Given the description of an element on the screen output the (x, y) to click on. 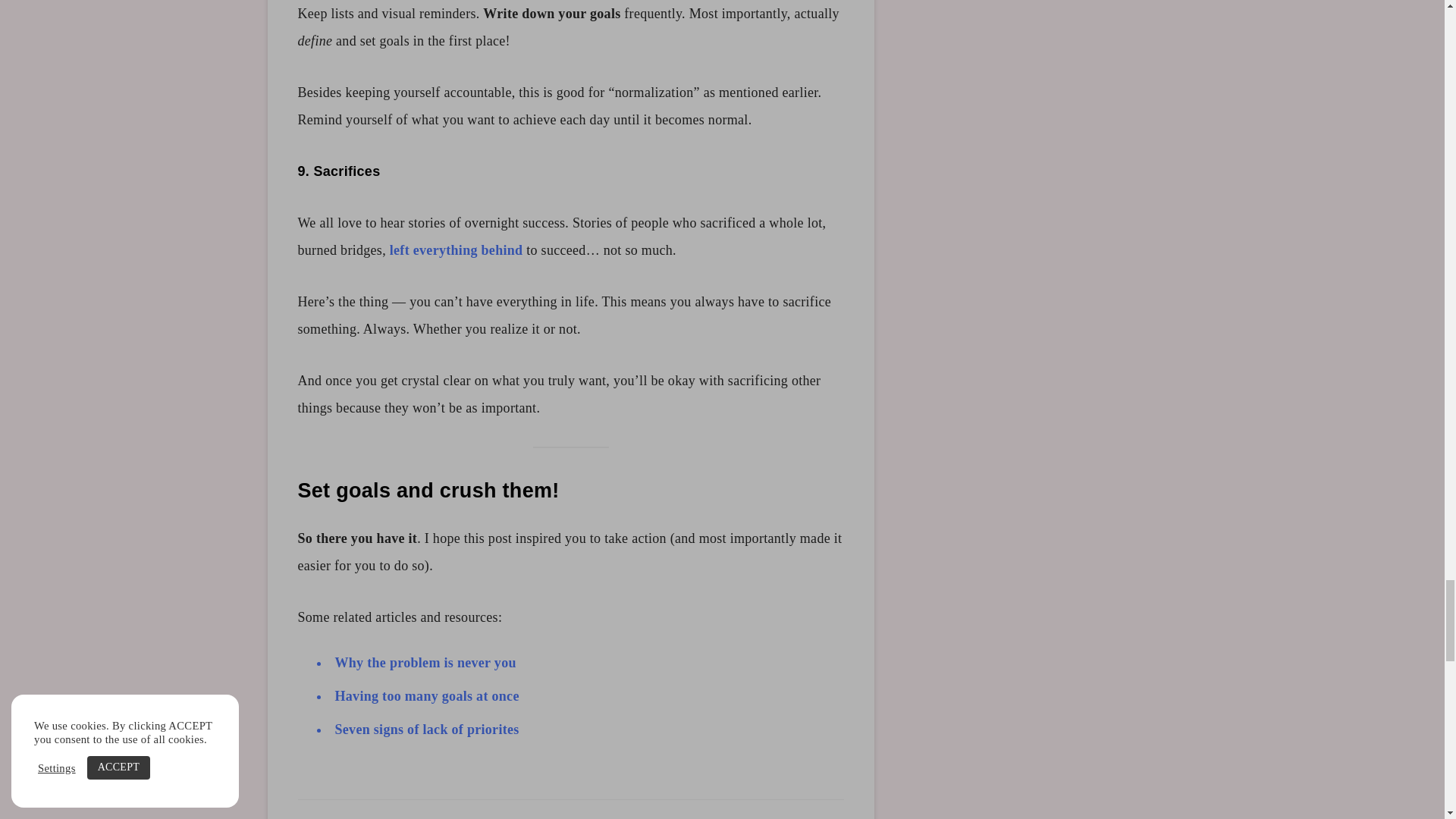
Seven signs of lack of priorites (426, 729)
Why the problem is never you (425, 662)
Having too many goals at once (426, 695)
left everything behind (456, 249)
